Given the description of an element on the screen output the (x, y) to click on. 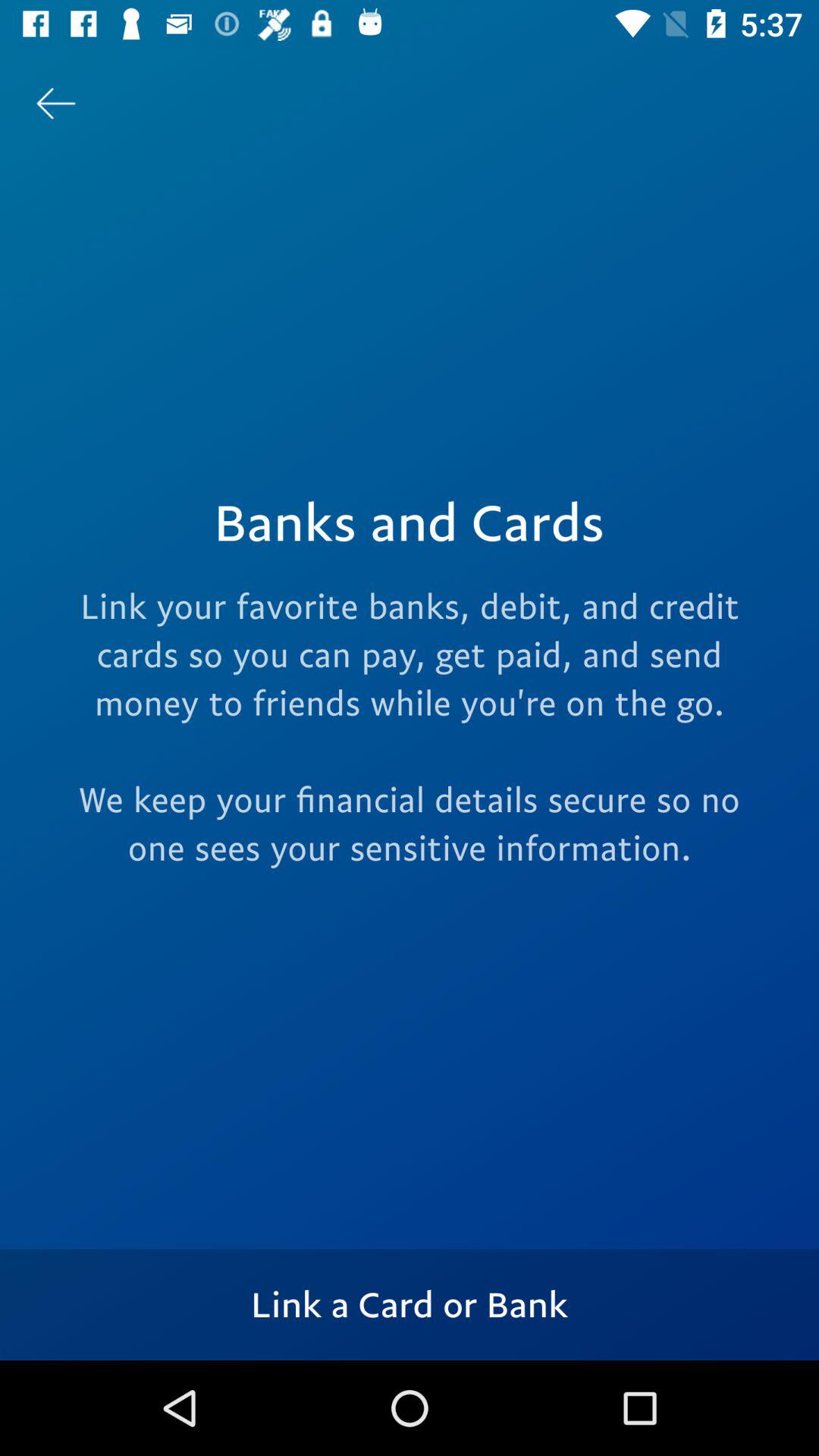
tap the icon below the link your favorite icon (409, 1304)
